Given the description of an element on the screen output the (x, y) to click on. 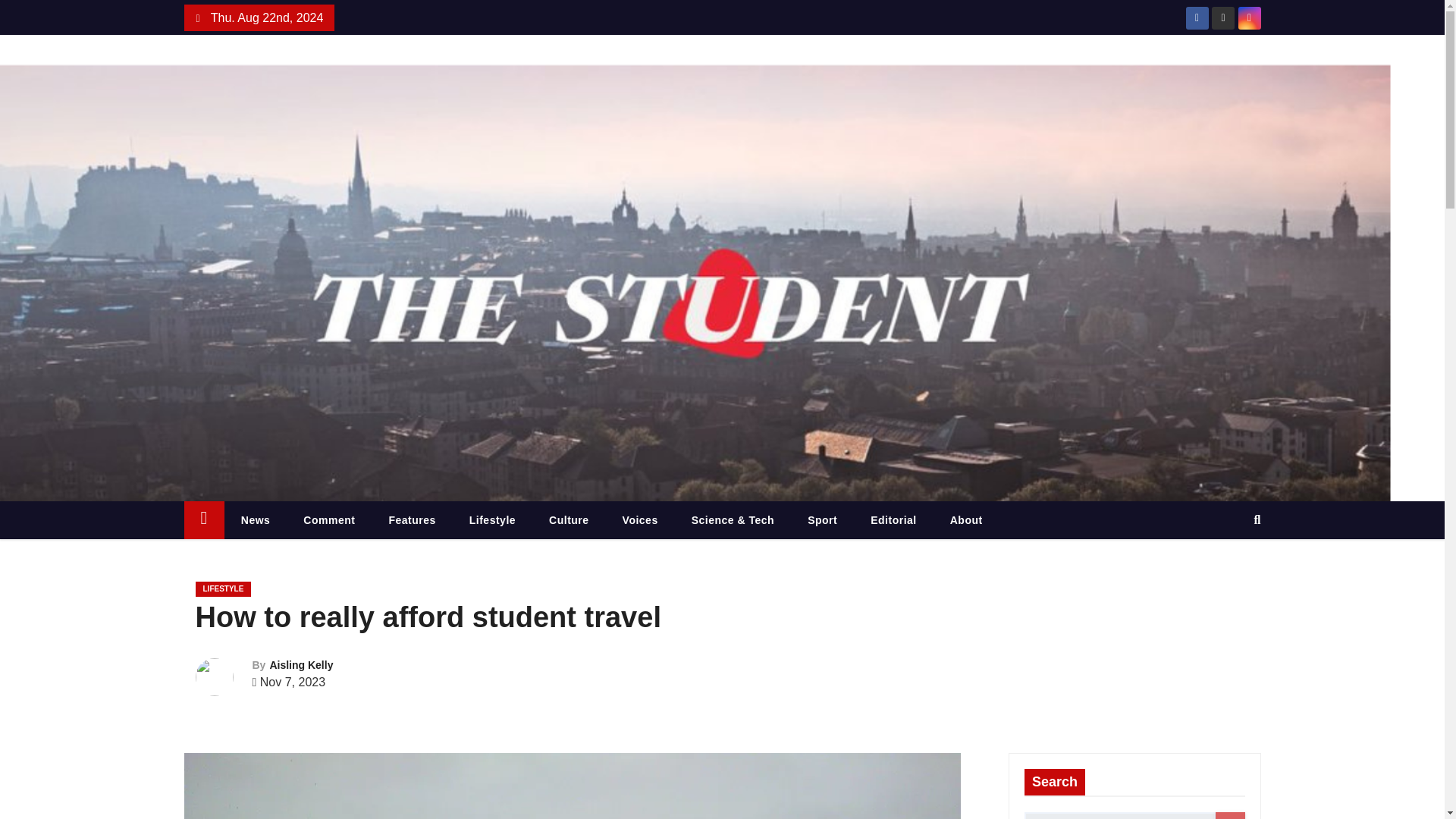
Home (203, 519)
Features (411, 519)
LIFESTYLE (223, 589)
Lifestyle (492, 519)
About (965, 519)
Culture (568, 519)
Voices (640, 519)
Culture (568, 519)
Sport (821, 519)
Sport (821, 519)
